Given the description of an element on the screen output the (x, y) to click on. 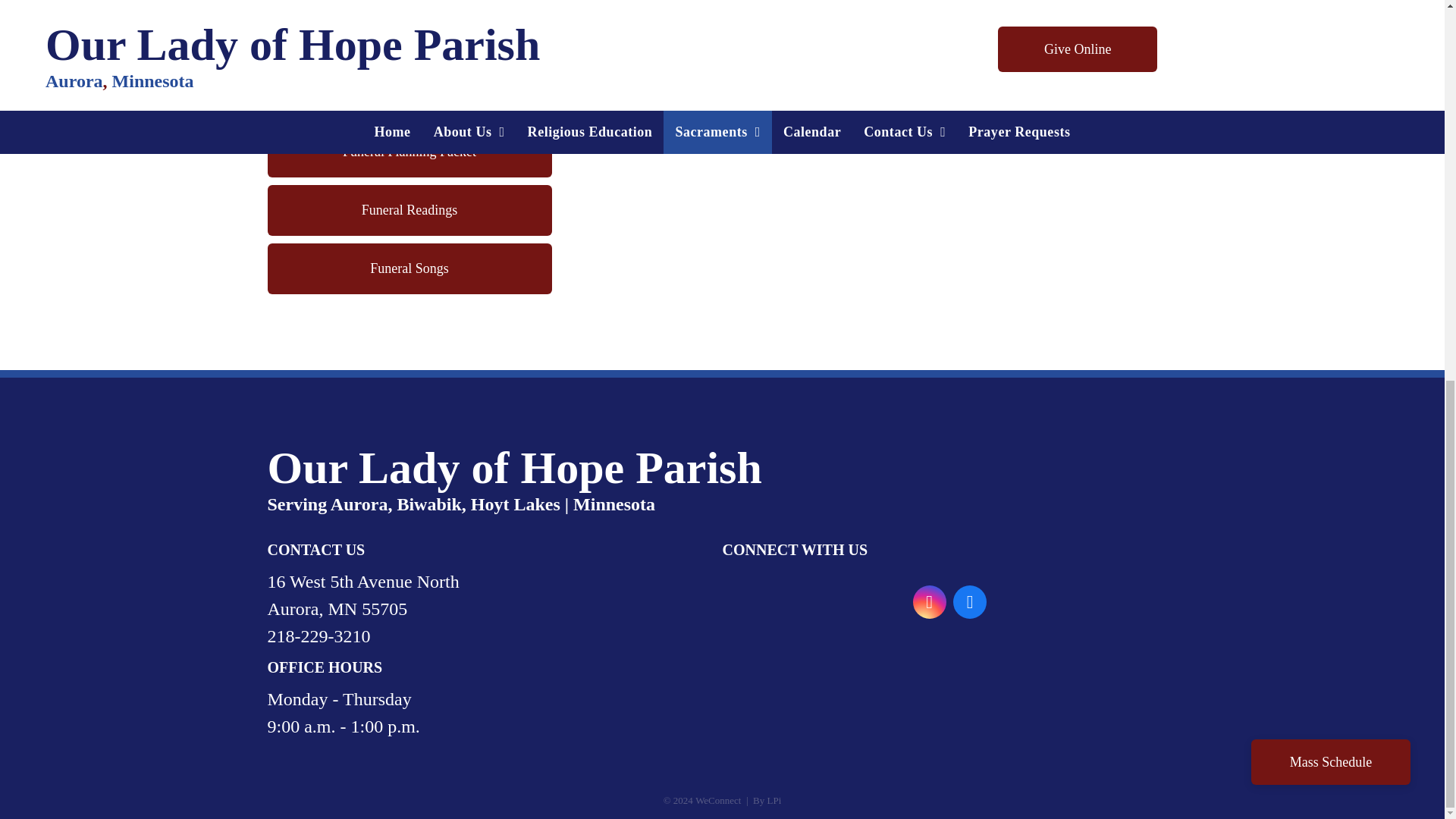
Mass Schedule (1330, 53)
Our Lady of Hope Parish (513, 468)
Funeral Songs (408, 268)
Funeral Planning Packet (408, 151)
Funeral Readings (408, 210)
